Given the description of an element on the screen output the (x, y) to click on. 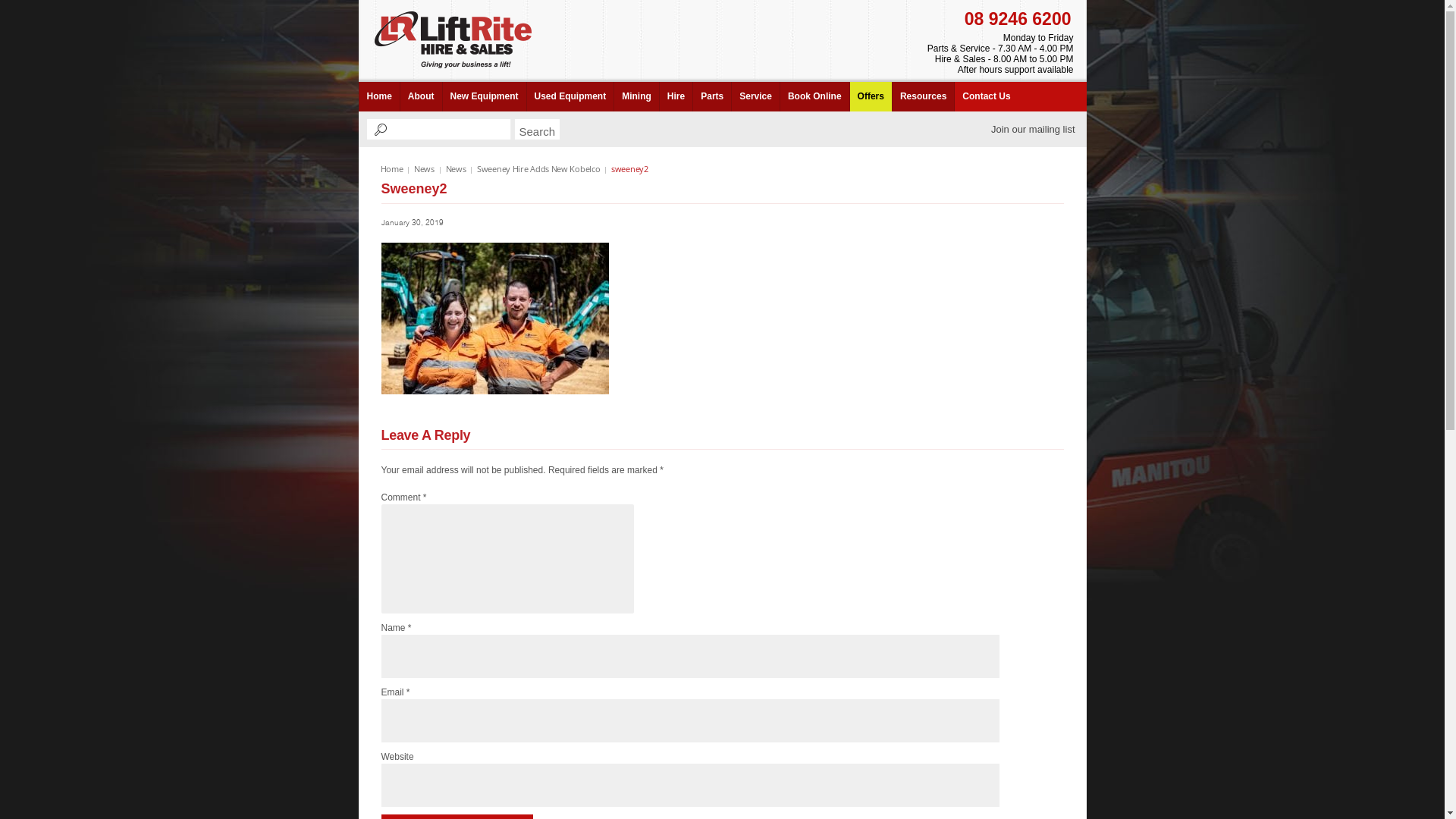
News Element type: text (424, 168)
Hire Element type: text (675, 96)
Used Equipment Element type: text (570, 96)
January Element type: text (394, 221)
Book Online Element type: text (814, 96)
Resources Element type: text (922, 96)
2019 Element type: text (433, 221)
30 Element type: text (415, 221)
New Equipment Element type: text (483, 96)
Parts Element type: text (711, 96)
08 9246 6200 Element type: text (1017, 18)
Sweeney Hire Adds New Kobelco Element type: text (537, 168)
About Element type: text (420, 96)
Join our mailing list Element type: text (1033, 128)
Home Element type: text (391, 168)
Contact Us Element type: text (985, 96)
Service Element type: text (755, 96)
Mining Element type: text (635, 96)
Search Element type: text (536, 129)
News Element type: text (455, 168)
Home Element type: text (377, 96)
Offers Element type: text (870, 96)
